Given the description of an element on the screen output the (x, y) to click on. 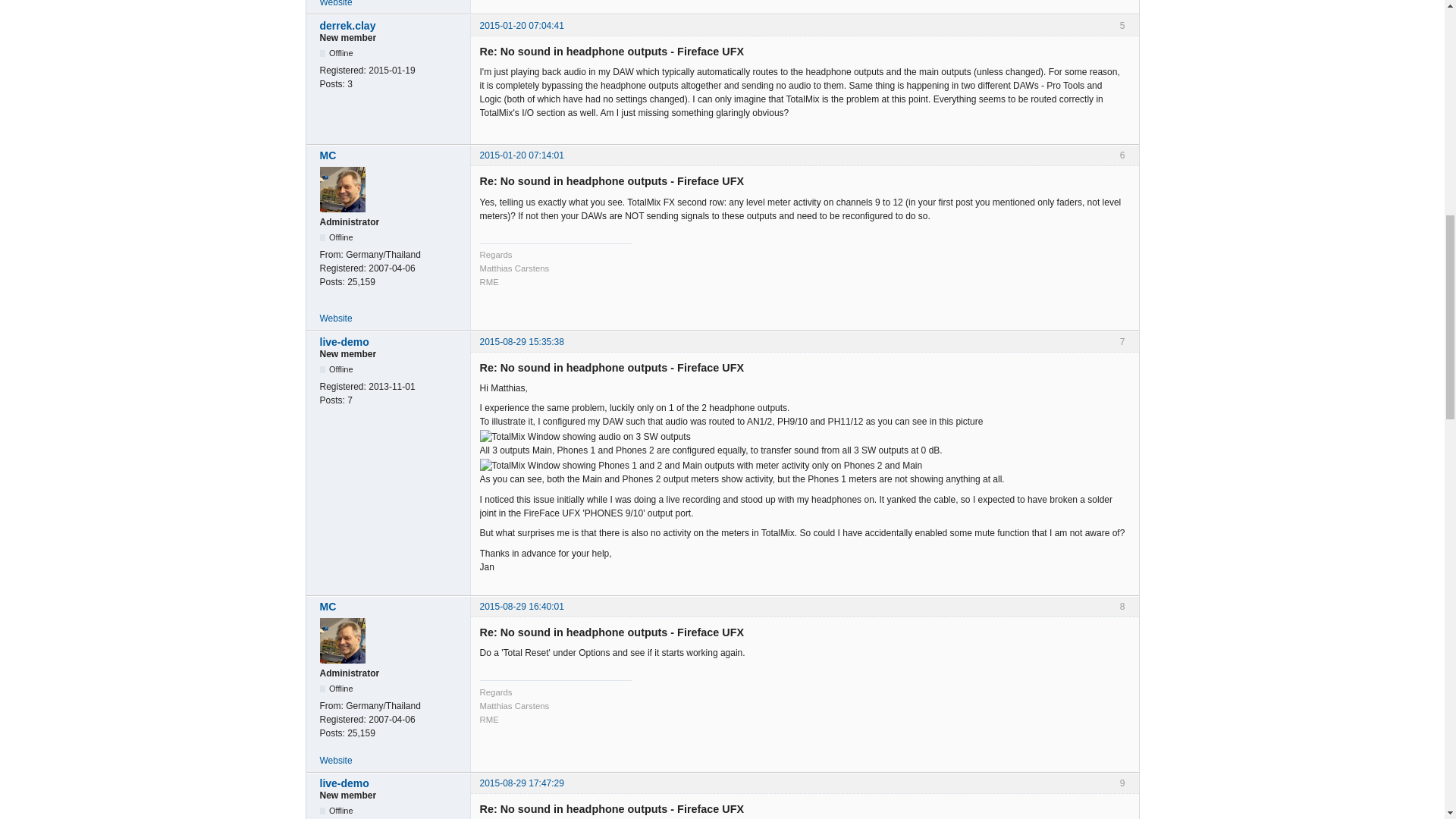
MC (390, 155)
Website (336, 3)
Website (336, 317)
2015-01-20 07:04:41 (521, 25)
live-demo (390, 341)
2015-01-20 07:14:01 (521, 154)
derrek.clay (390, 25)
